Given the description of an element on the screen output the (x, y) to click on. 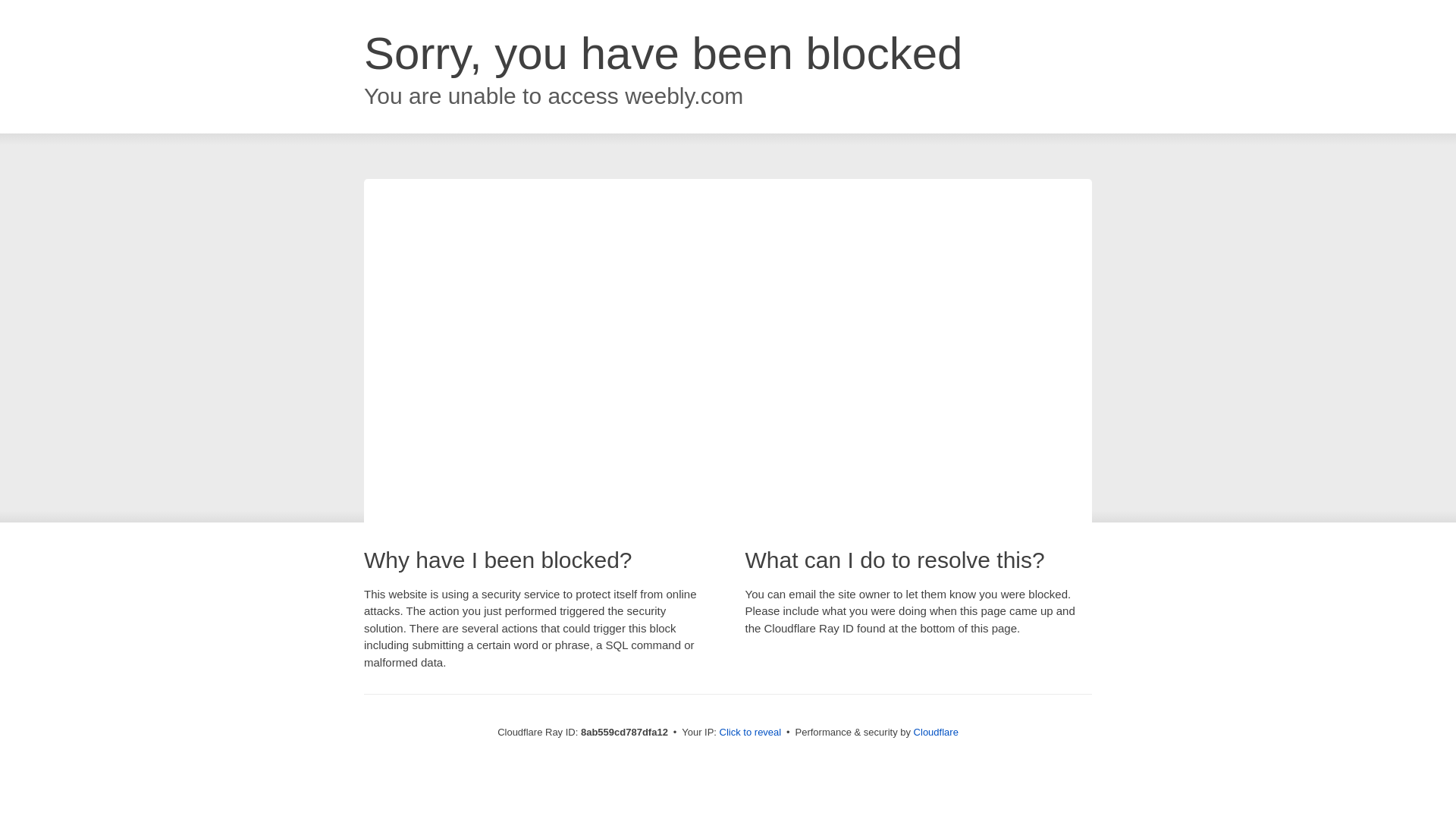
Cloudflare (936, 731)
Click to reveal (750, 732)
